Given the description of an element on the screen output the (x, y) to click on. 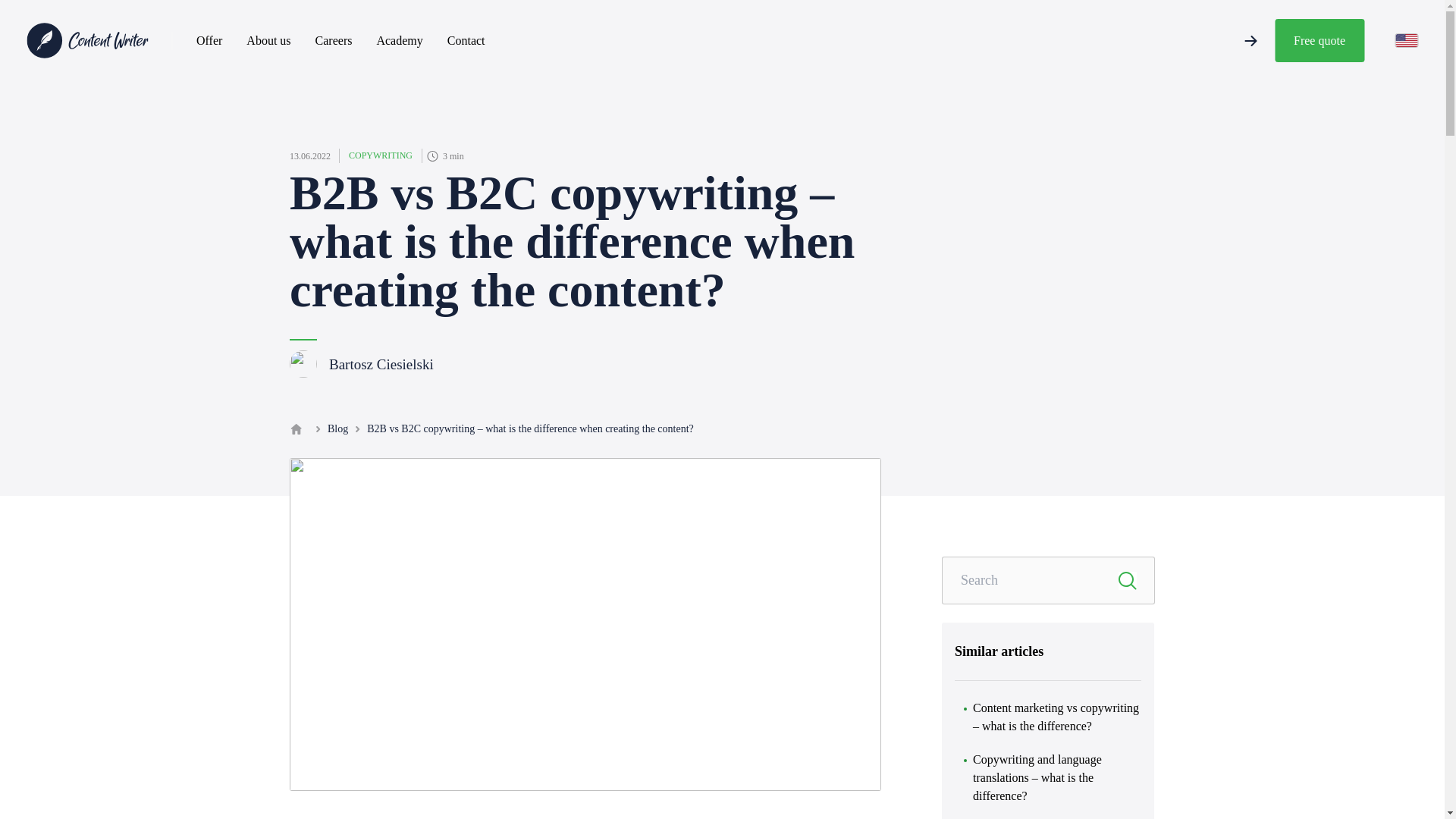
About us (267, 40)
Contact (465, 40)
Careers (333, 40)
Academy (398, 40)
Offer (209, 40)
Free quote (1319, 40)
